Given the description of an element on the screen output the (x, y) to click on. 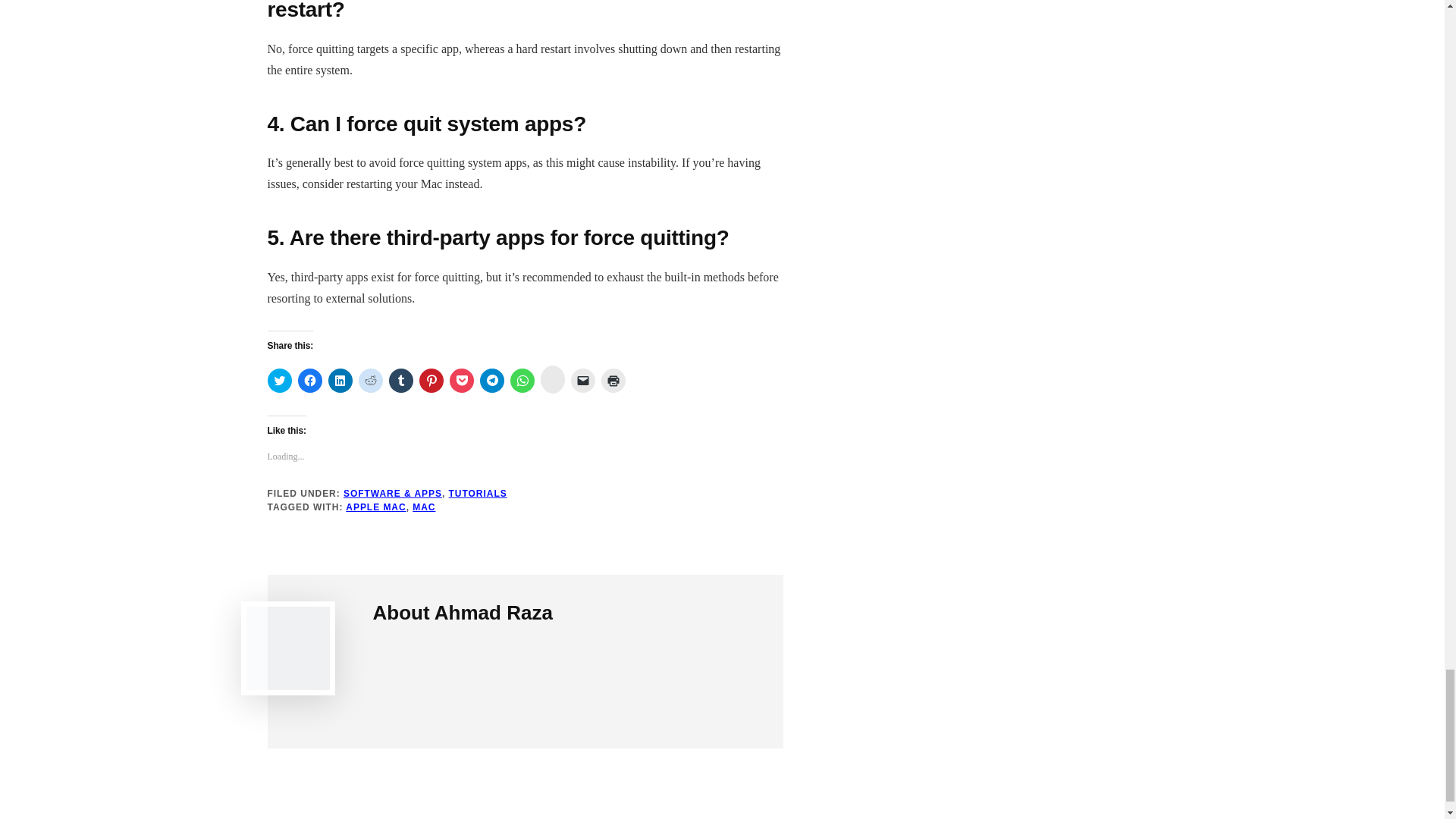
Click to share on Pinterest (430, 380)
Click to share on Twitter (278, 380)
Click to share on Pocket (460, 380)
Click to share on WhatsApp (521, 380)
Click to share on LinkedIn (339, 380)
Click to share on Reddit (369, 380)
Click to share on Tumblr (400, 380)
Click to share on Telegram (491, 380)
Click to share on Facebook (309, 380)
